Given the description of an element on the screen output the (x, y) to click on. 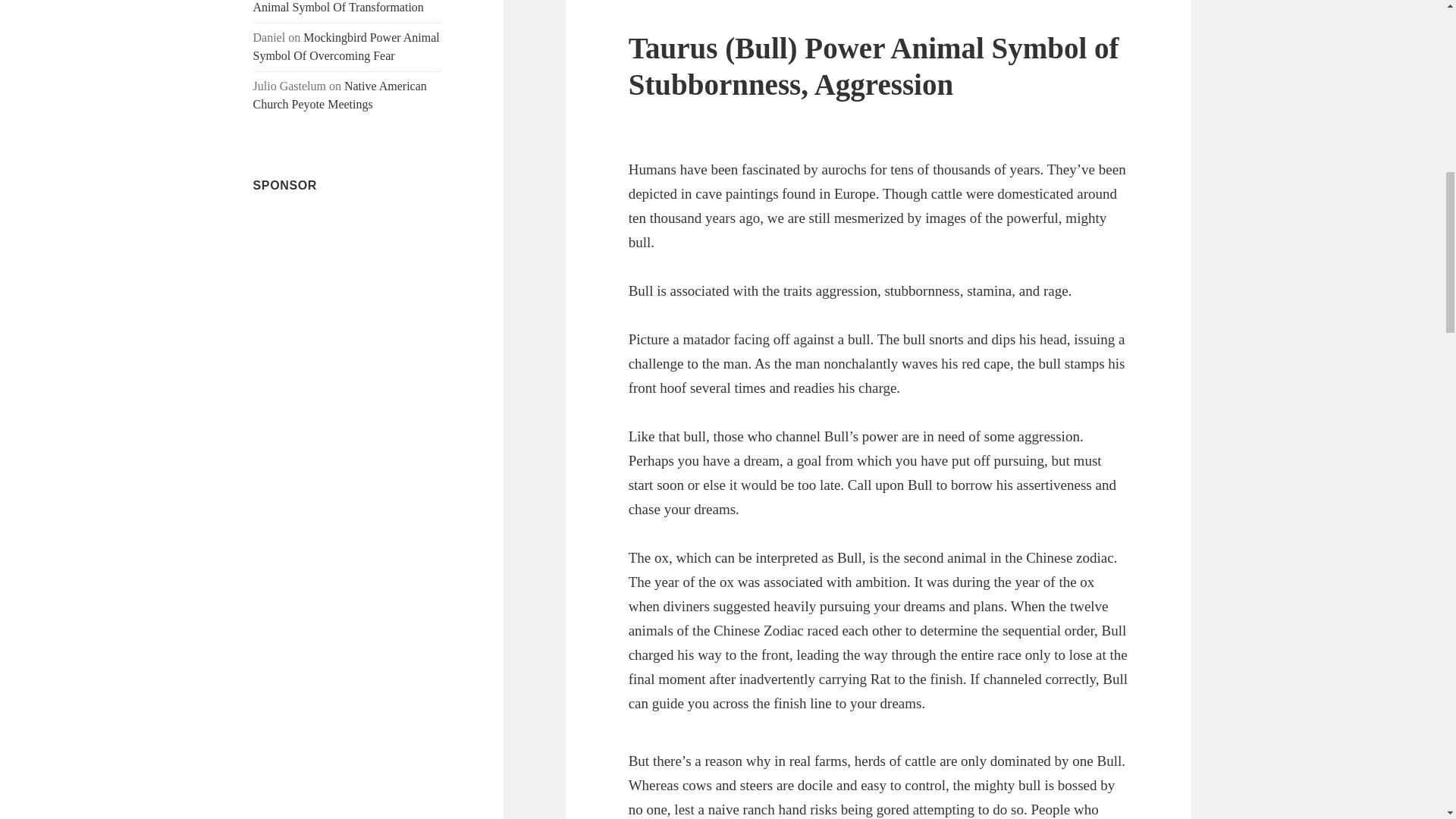
Moth Power Animal Symbol Of Transformation (338, 6)
Native American Church Peyote Meetings (339, 94)
Mockingbird Power Animal Symbol Of Overcoming Fear (346, 46)
